Given the description of an element on the screen output the (x, y) to click on. 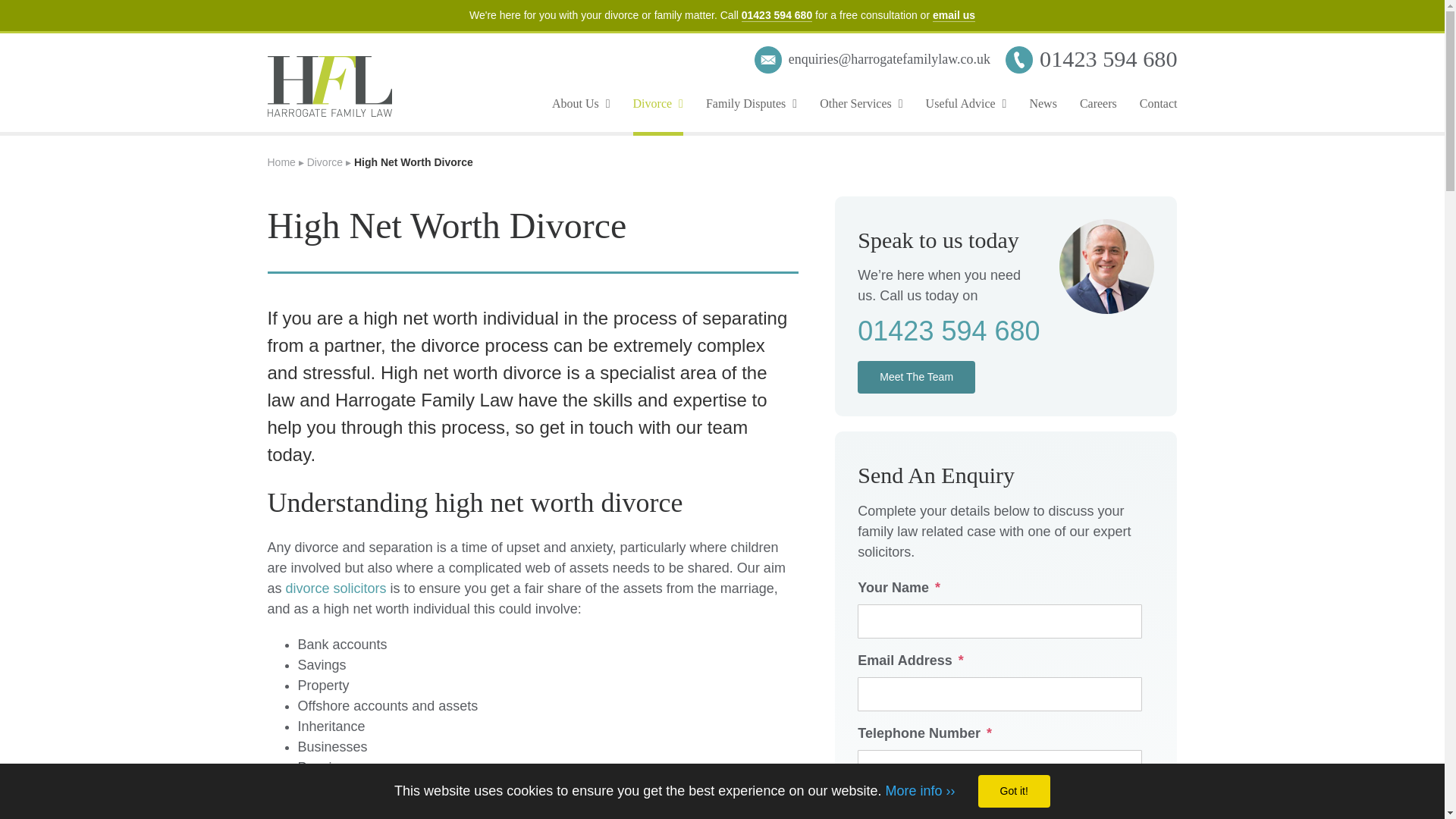
Andrew Meehan (1106, 266)
email us (954, 15)
About Us (580, 103)
01423 594 680 (1107, 58)
Family Disputes (751, 103)
Other Services (860, 103)
Useful Advice (966, 103)
01423 594 680 (776, 15)
